Given the description of an element on the screen output the (x, y) to click on. 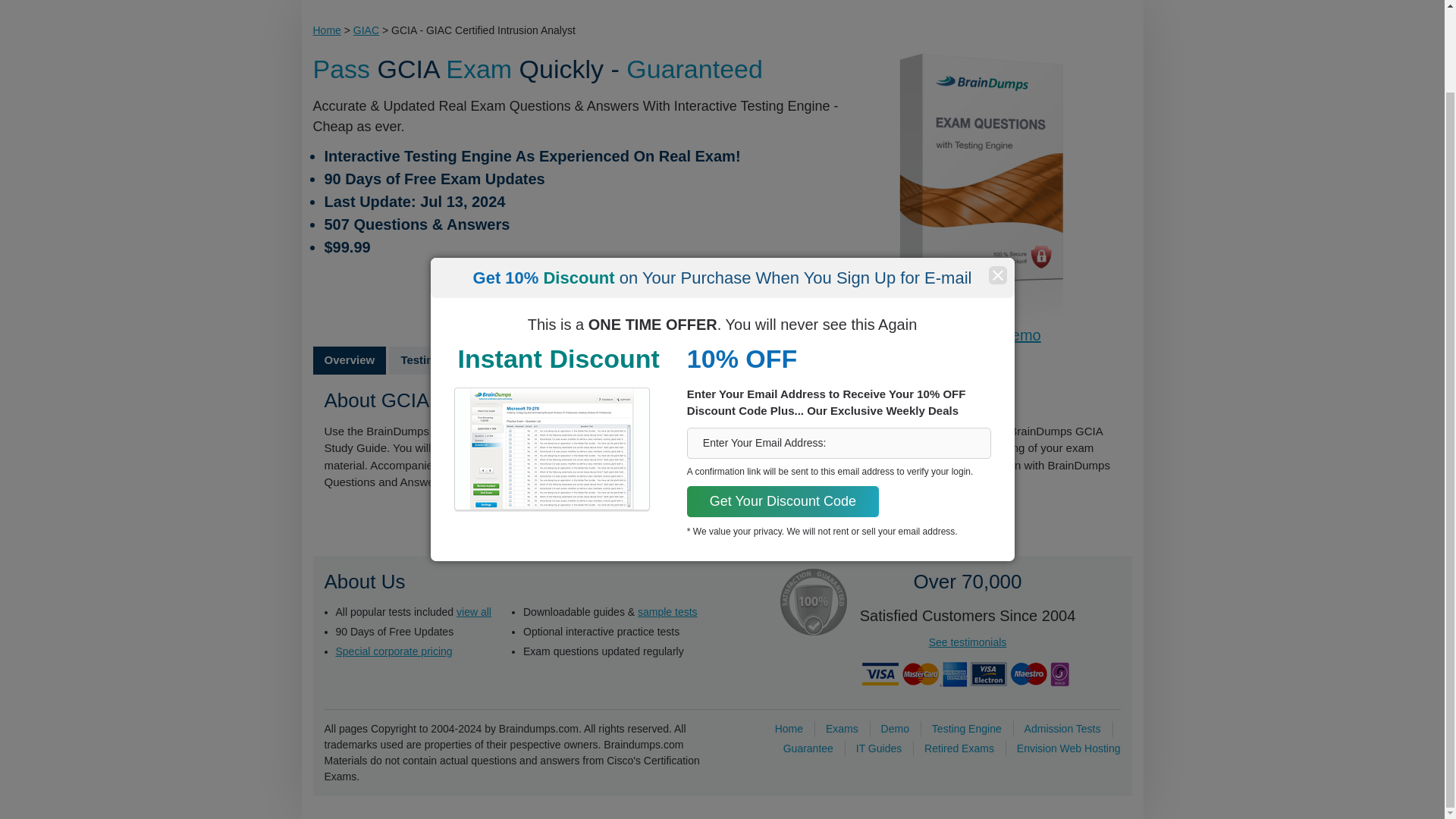
Home (788, 727)
Close (996, 181)
Enter Your Email Address: (839, 350)
IT Guides (878, 747)
Buy Now (581, 285)
Special corporate pricing (392, 650)
sample tests (667, 611)
Proceed to Checkout (581, 285)
Envision Web Hosting (1068, 747)
Retired Exams (959, 747)
view all (474, 611)
Guarantee (807, 747)
Demo (894, 727)
Home (326, 30)
